Given the description of an element on the screen output the (x, y) to click on. 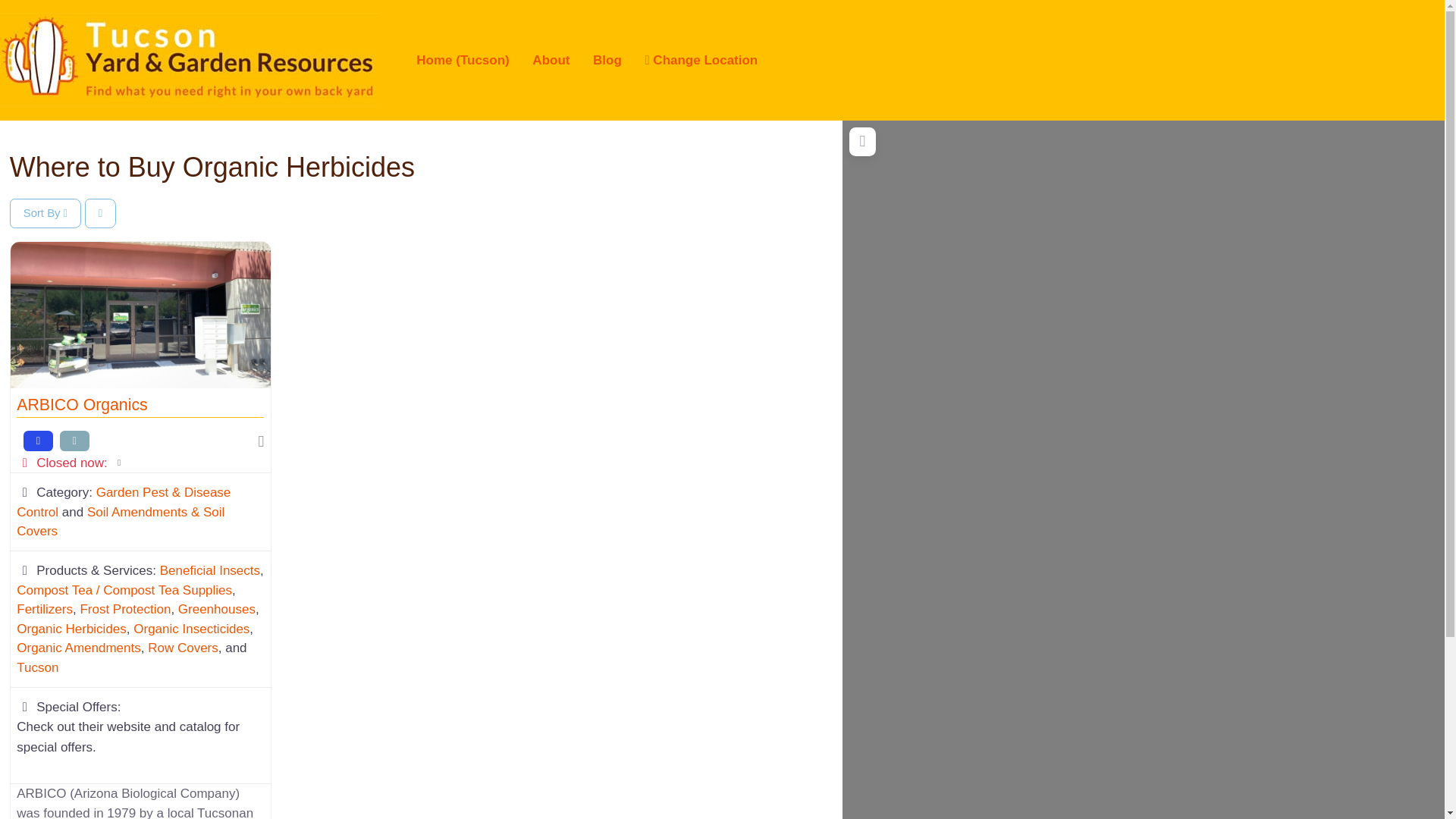
Tucson (37, 667)
ARBICO Organics (81, 404)
Change Location (700, 59)
Fertilizers (44, 608)
Blog (606, 59)
Organic Amendments (77, 647)
View: ARBICO Organics (81, 404)
Organic Insecticides (190, 628)
Beneficial Insects (210, 570)
Organic Herbicides (71, 628)
Row Covers (183, 647)
Greenhouses (216, 608)
Frost Protection (125, 608)
Closed now: (139, 463)
